Given the description of an element on the screen output the (x, y) to click on. 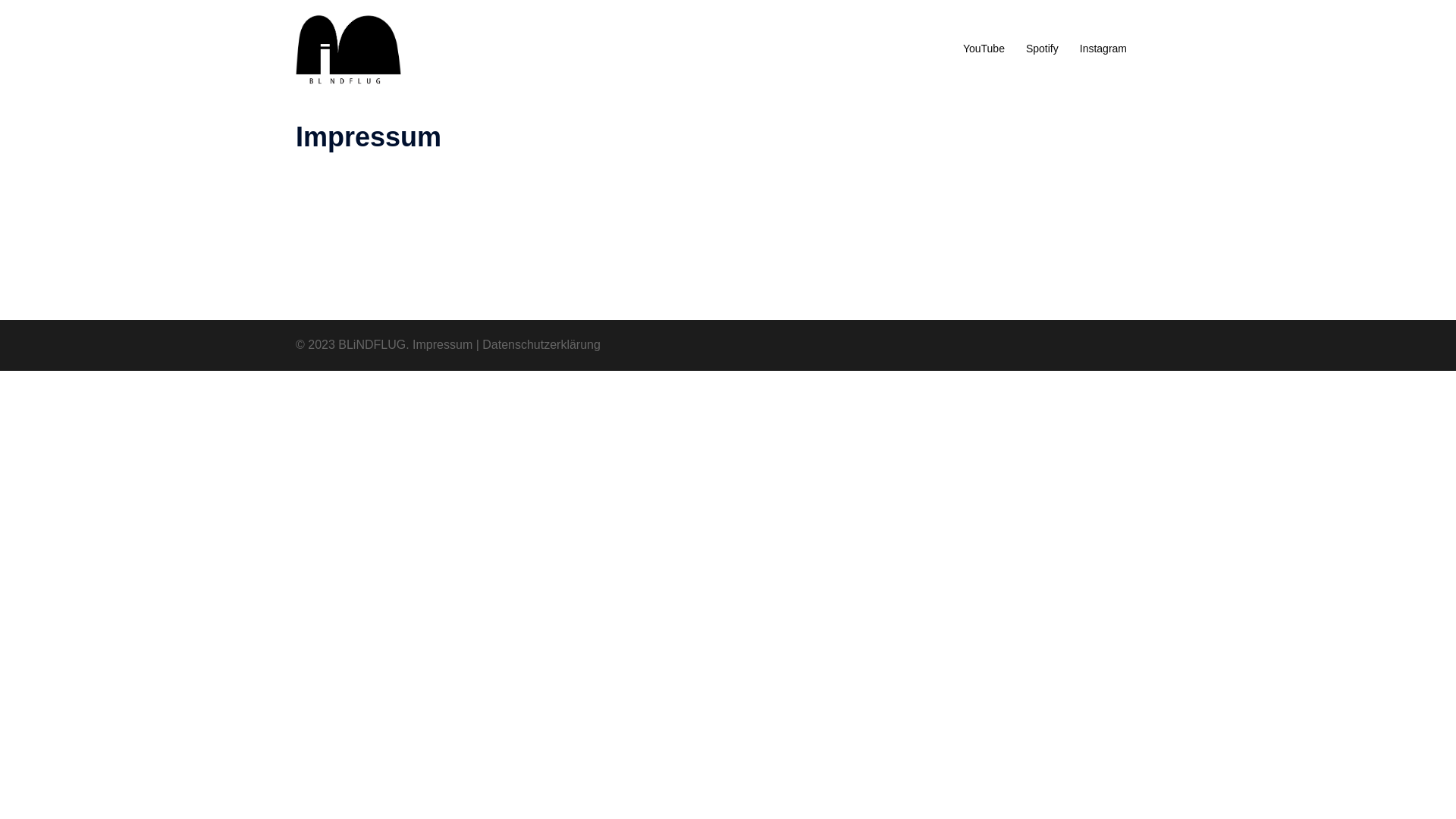
YouTube Element type: text (983, 49)
BLiNDFLUG Element type: hover (348, 47)
Instagram Element type: text (1102, 49)
Spotify Element type: text (1042, 49)
Impressum Element type: text (442, 344)
